Given the description of an element on the screen output the (x, y) to click on. 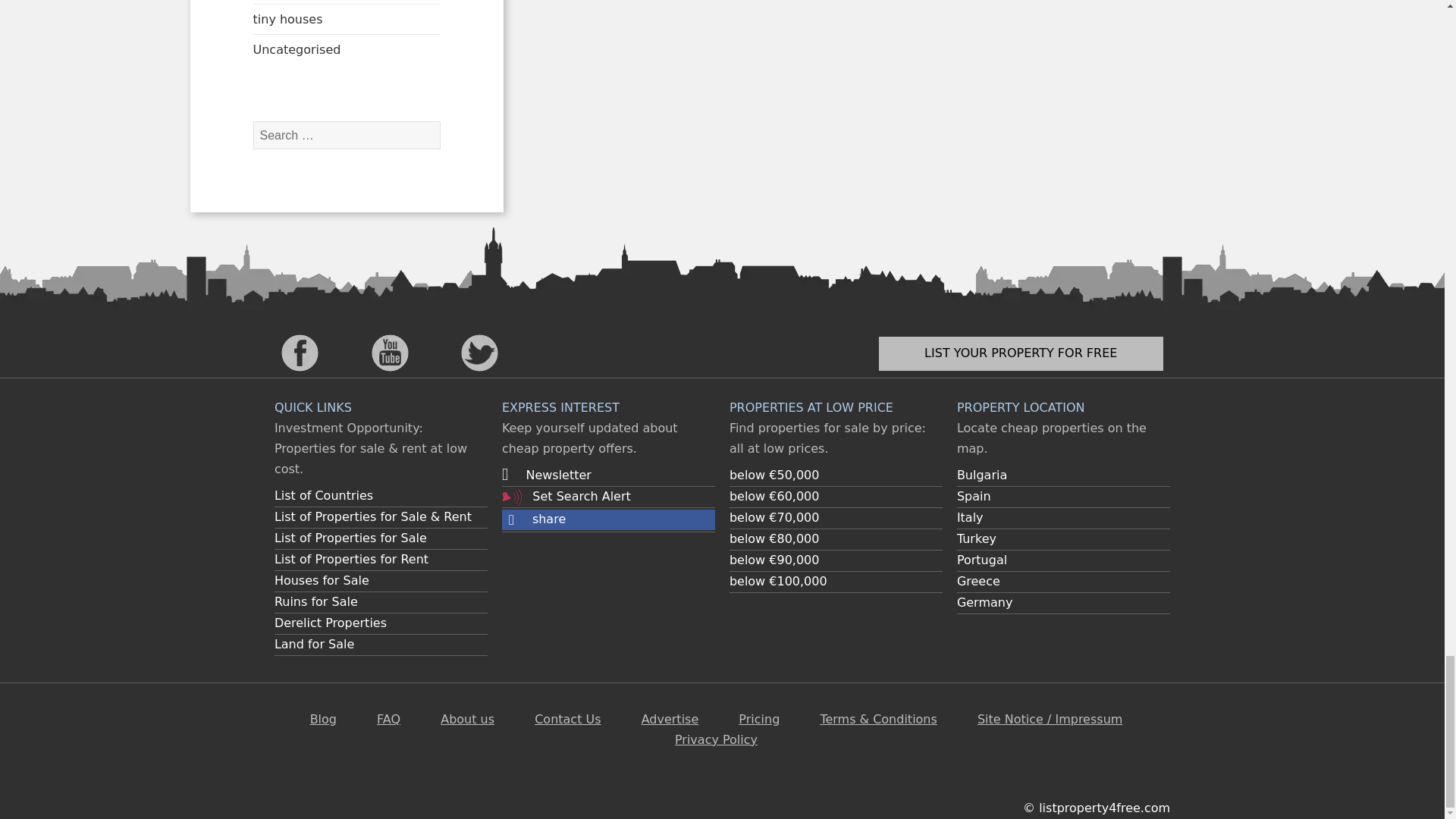
Ruins for Sale (316, 601)
Visit us on Twitter (479, 351)
Visit us on YouTube (390, 351)
List of Properties for Sale (350, 537)
List of Countries (323, 495)
Houses for Sale (322, 580)
List of Properties for Rent (351, 559)
Land for Sale (314, 644)
Derelict Properties for Sale (331, 622)
Visit us on Facebook (299, 351)
